Given the description of an element on the screen output the (x, y) to click on. 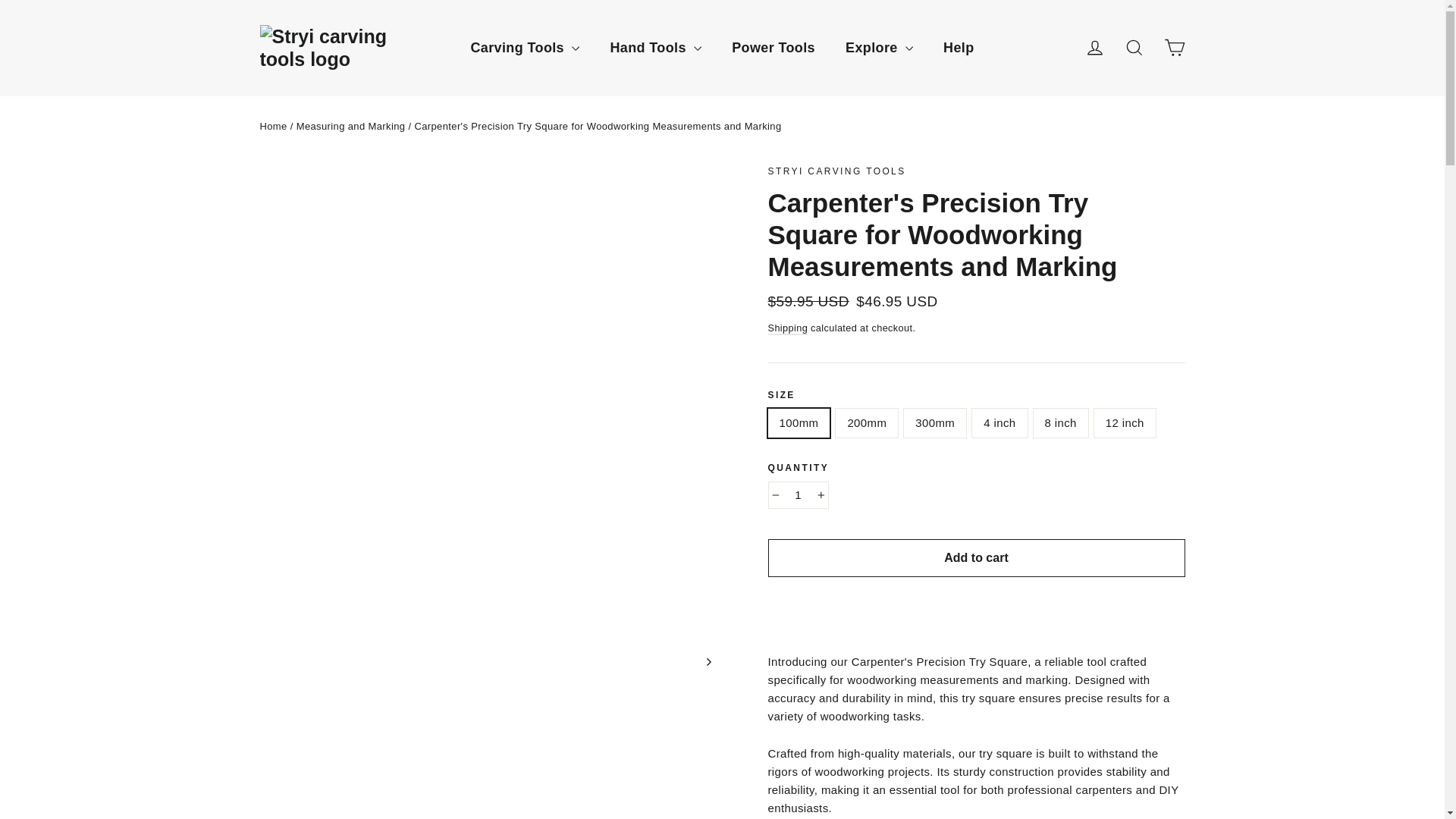
1 (797, 494)
Back to the frontpage (272, 125)
STRYI CARVING TOOLS (836, 171)
